Given the description of an element on the screen output the (x, y) to click on. 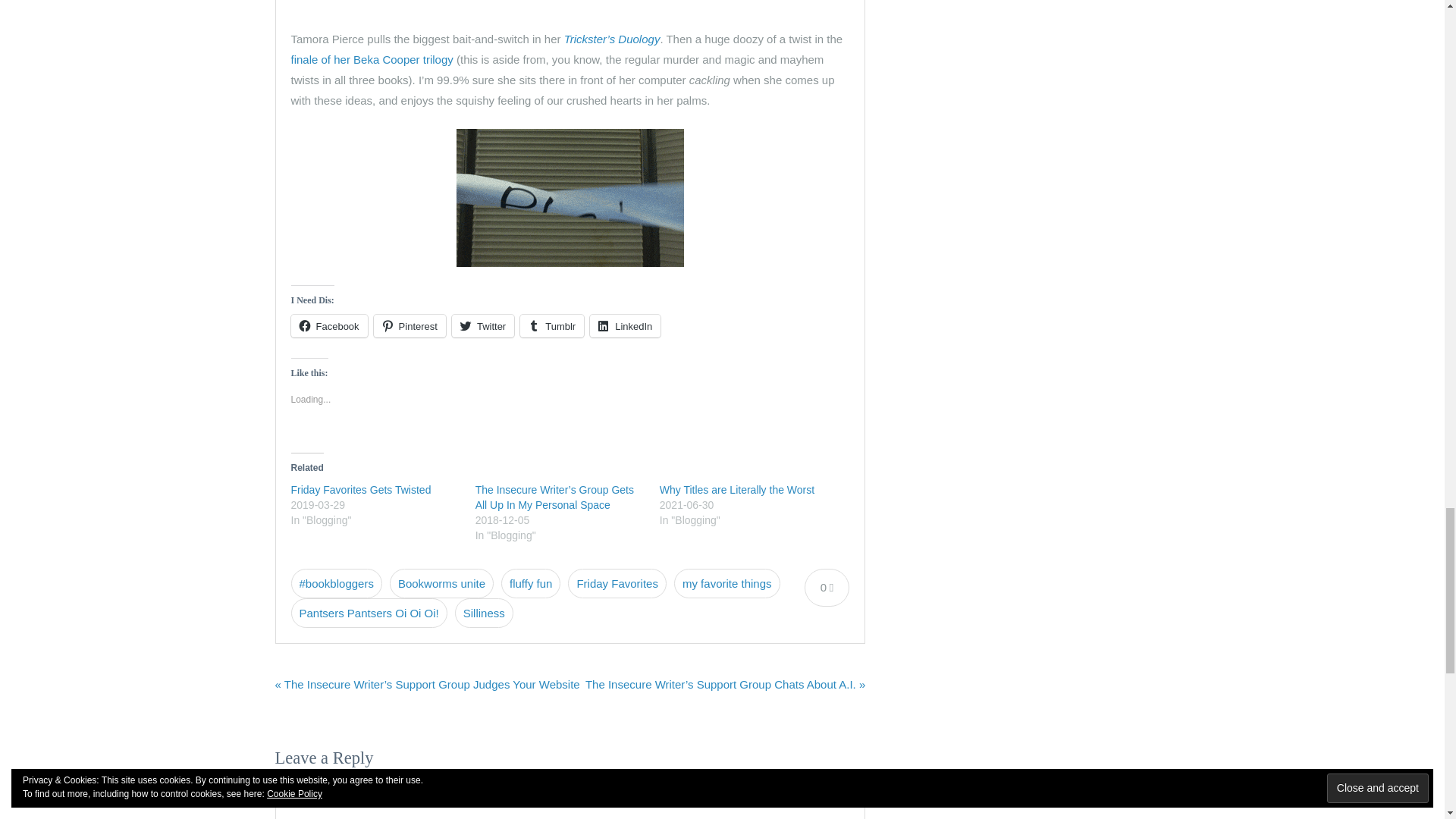
Click to share on LinkedIn (625, 325)
finale of her Beka Cooper trilogy (371, 59)
Click to share on Pinterest (409, 325)
Pinterest (409, 325)
Facebook (329, 325)
Friday Favorites Gets Twisted (360, 490)
Click to share on Tumblr (551, 325)
Why Titles are Literally the Worst (736, 490)
Tumblr (551, 325)
Twitter (482, 325)
Click to share on Facebook (329, 325)
Friday Favorites Gets Twisted (360, 490)
LinkedIn (625, 325)
Click to share on Twitter (482, 325)
